Given the description of an element on the screen output the (x, y) to click on. 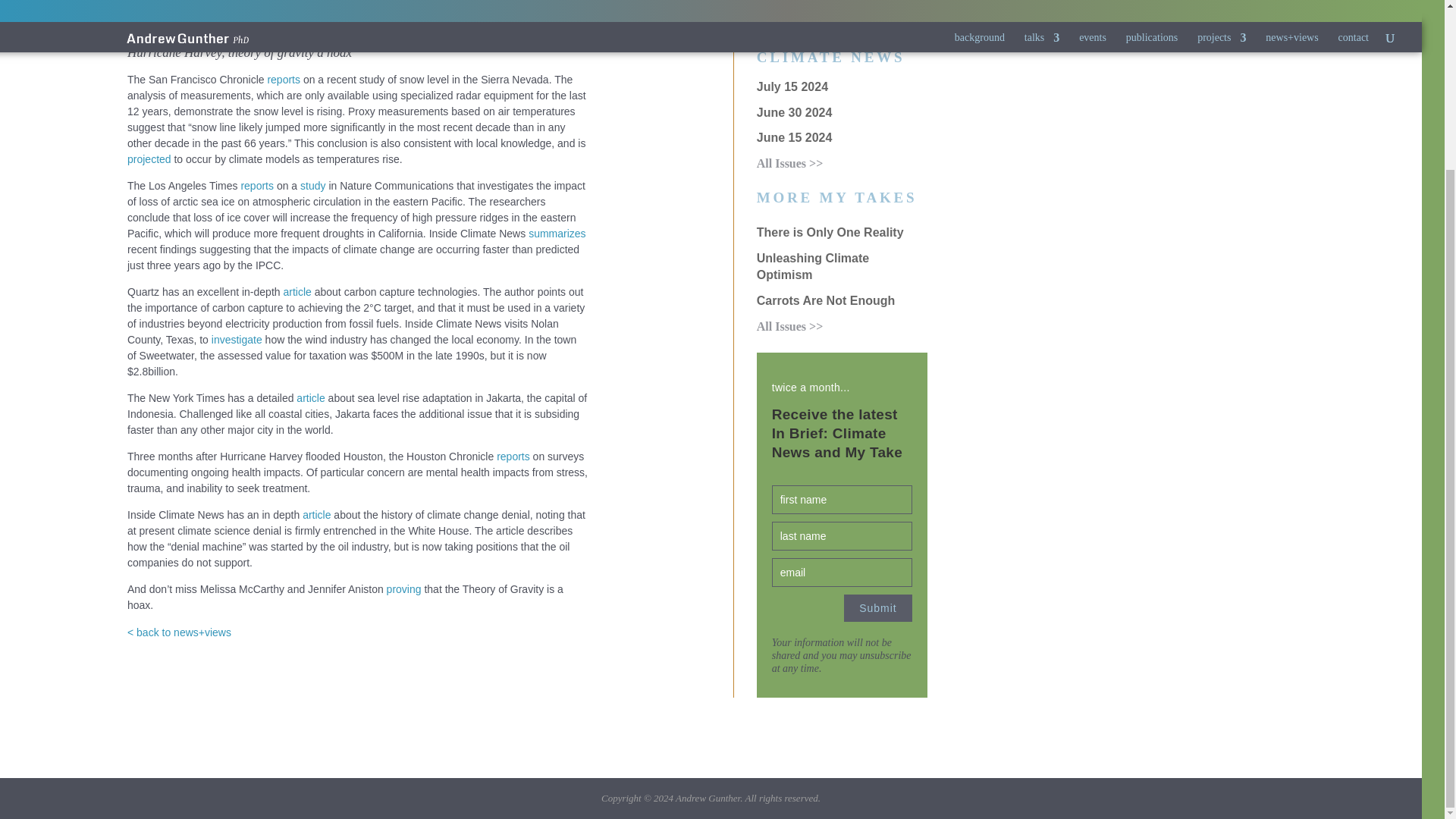
June 30 2024 (794, 112)
proving (404, 589)
June 15 2024 (794, 137)
July 15 2024 (792, 86)
reports (512, 456)
article (296, 291)
article (316, 514)
projected (149, 159)
study (311, 185)
summarizes (556, 233)
reports (256, 185)
article (310, 398)
reports (282, 79)
investigate (236, 339)
